Given the description of an element on the screen output the (x, y) to click on. 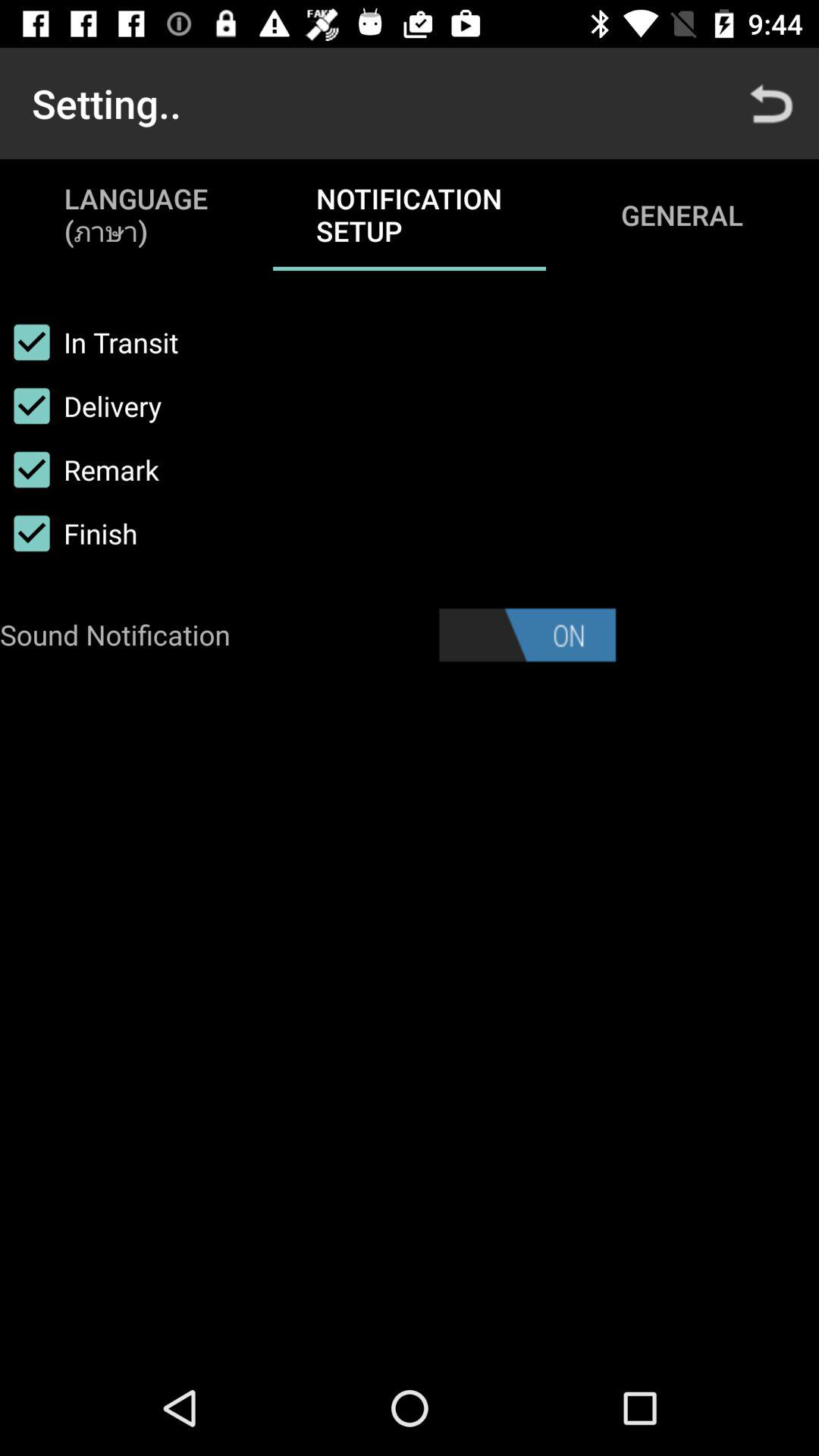
jump to finish item (68, 533)
